Given the description of an element on the screen output the (x, y) to click on. 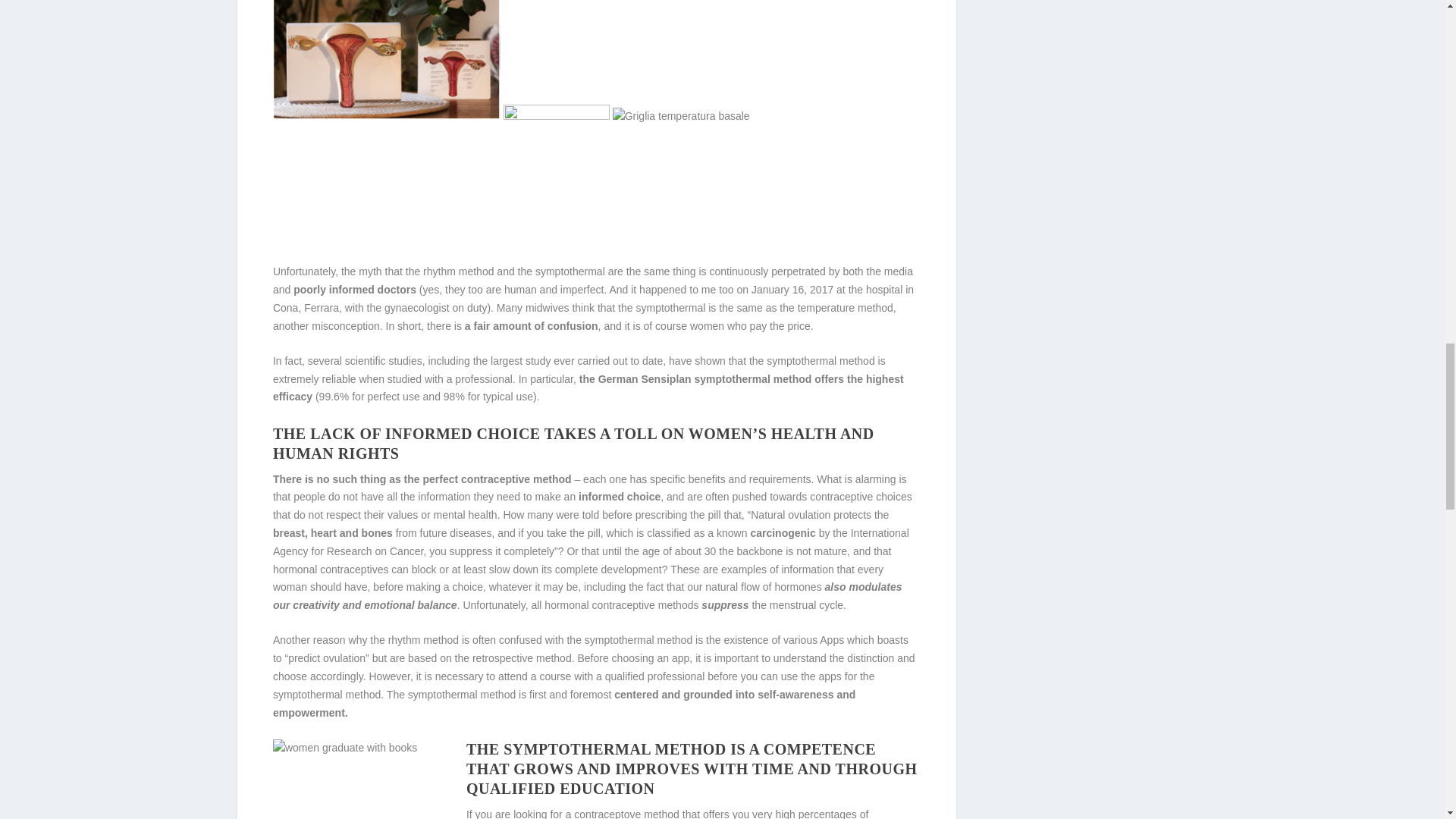
Sensiplan (665, 378)
the largest study ever carried out to date, (569, 360)
understand the distinction (834, 657)
mental health (465, 514)
protects (853, 514)
